Given the description of an element on the screen output the (x, y) to click on. 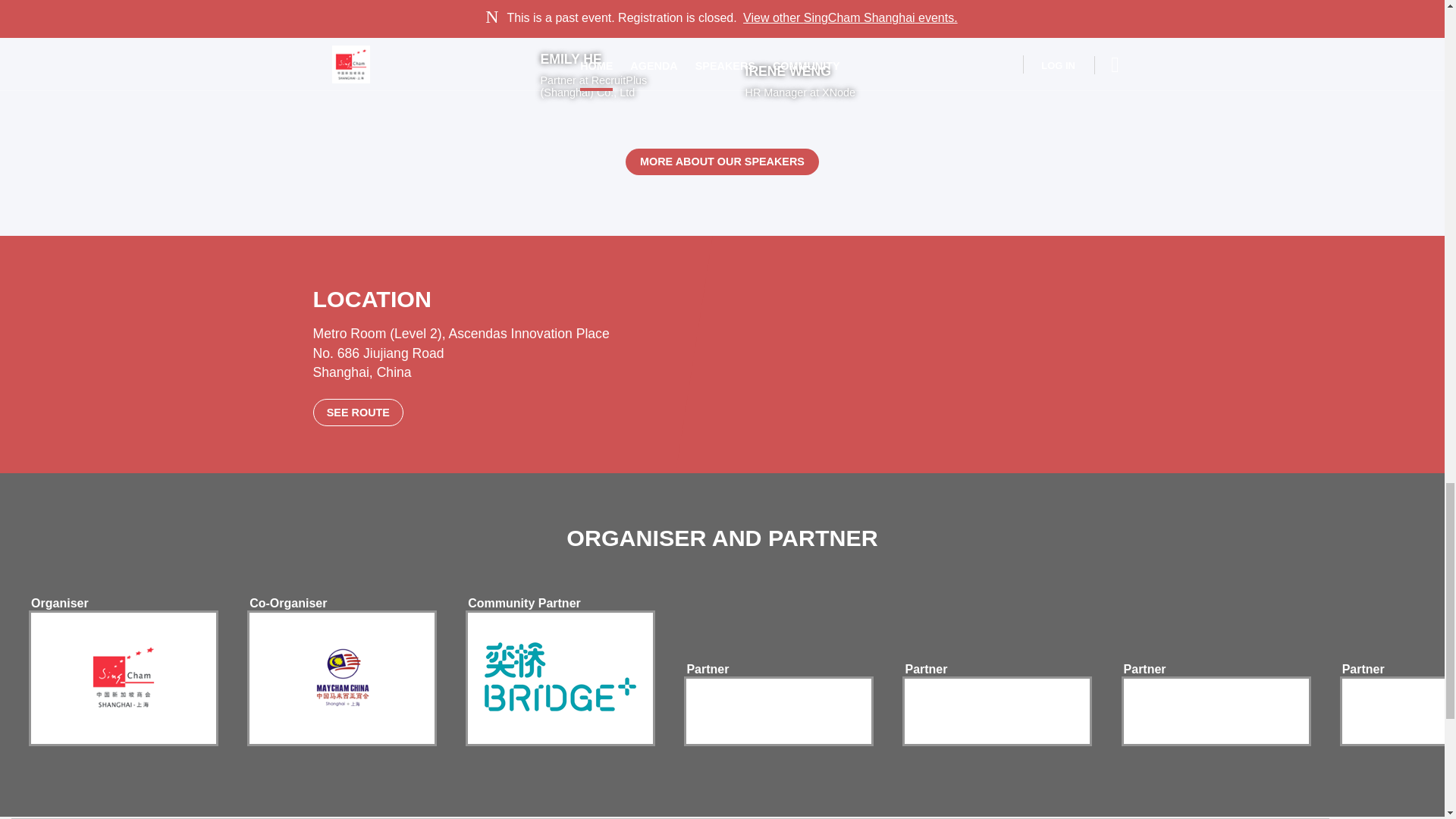
Organiser (824, 58)
HR Manager at XNode (59, 603)
Partner (824, 88)
MORE ABOUT OUR SPEAKERS (1363, 669)
Co-Organiser (722, 161)
Partner (287, 603)
Partner (925, 669)
SEE ROUTE (1145, 669)
Community Partner (358, 412)
Partner (523, 603)
